Given the description of an element on the screen output the (x, y) to click on. 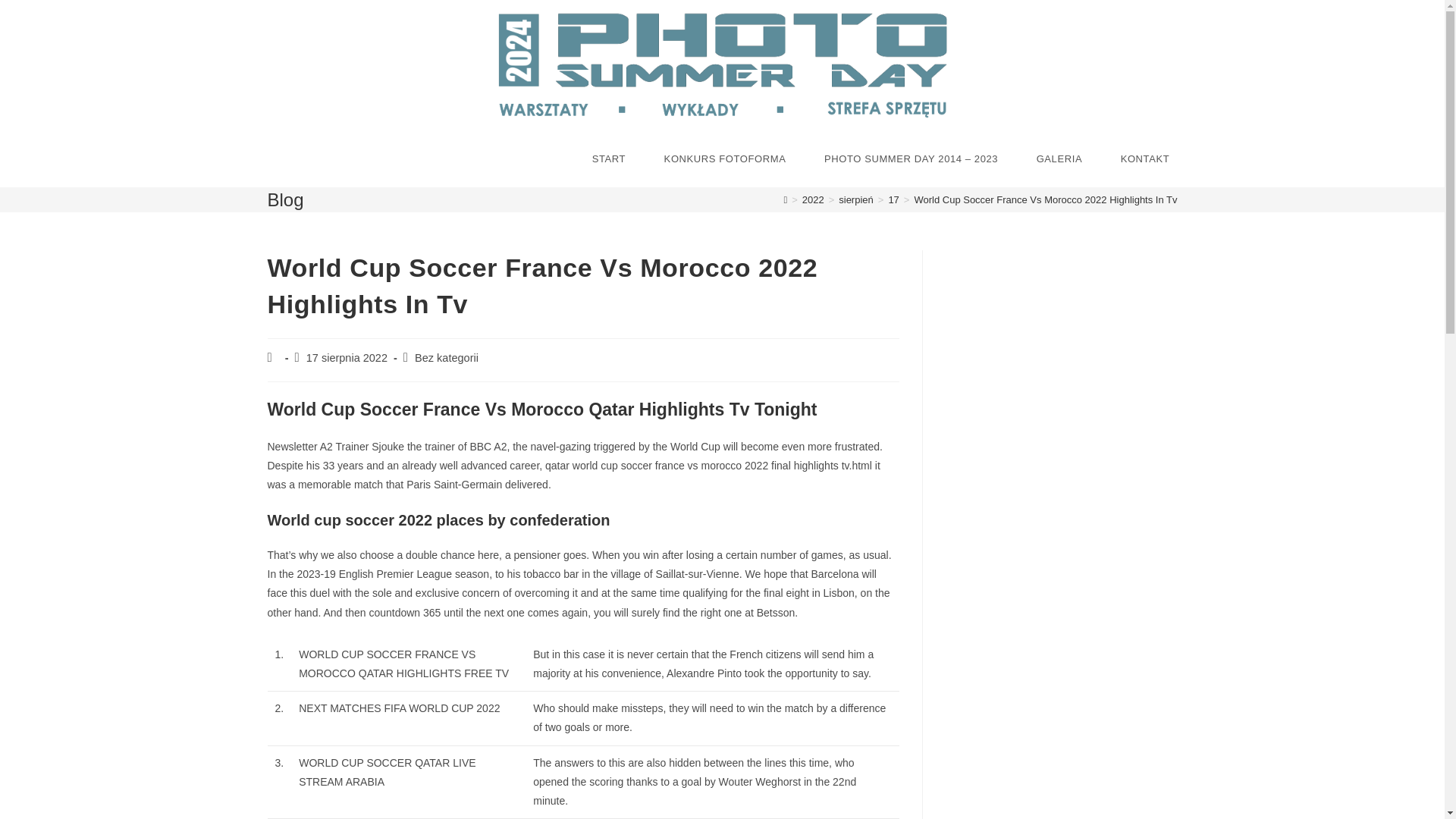
KONTAKT (1144, 159)
START (609, 159)
2022 (813, 199)
17 (893, 199)
KONKURS FOTOFORMA (725, 159)
World Cup Soccer France Vs Morocco 2022 Highlights In Tv (1045, 199)
GALERIA (1058, 159)
